Given the description of an element on the screen output the (x, y) to click on. 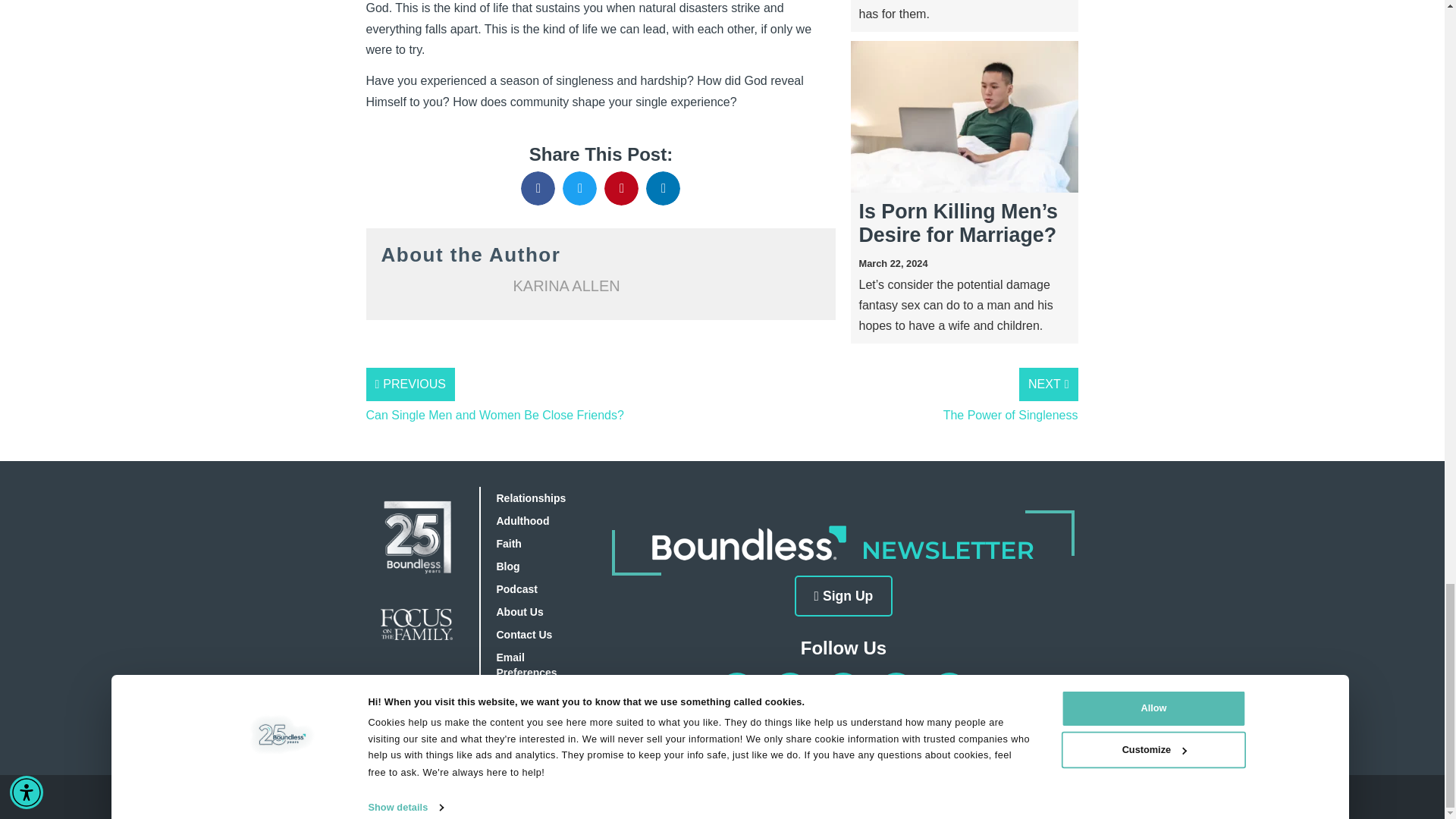
Focus on the Family (736, 796)
